Given the description of an element on the screen output the (x, y) to click on. 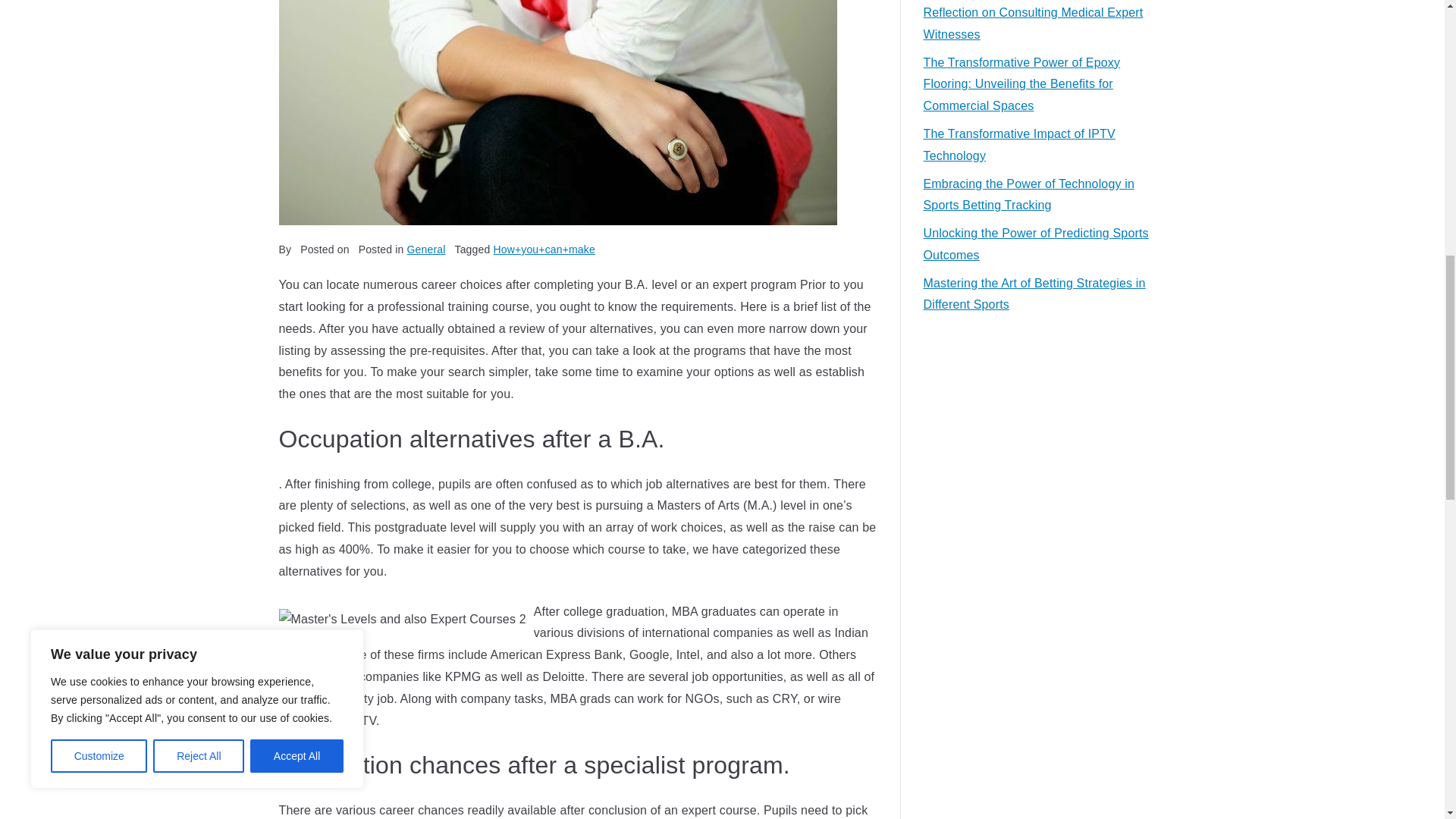
General (426, 249)
